Given the description of an element on the screen output the (x, y) to click on. 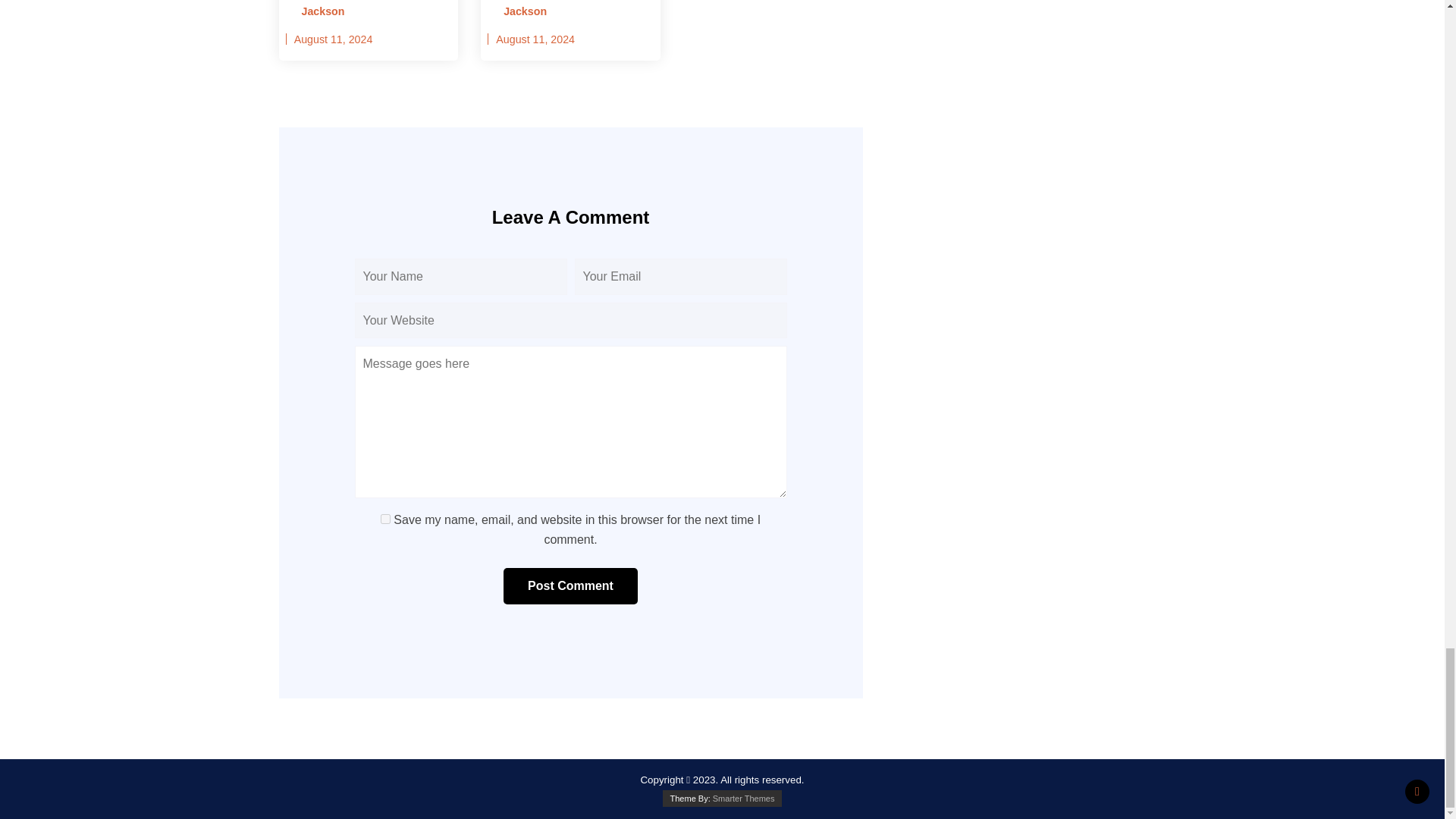
Post Comment (570, 586)
Jackson (520, 11)
yes (385, 519)
Jackson (318, 11)
August 11, 2024 (333, 39)
August 11, 2024 (535, 39)
